Given the description of an element on the screen output the (x, y) to click on. 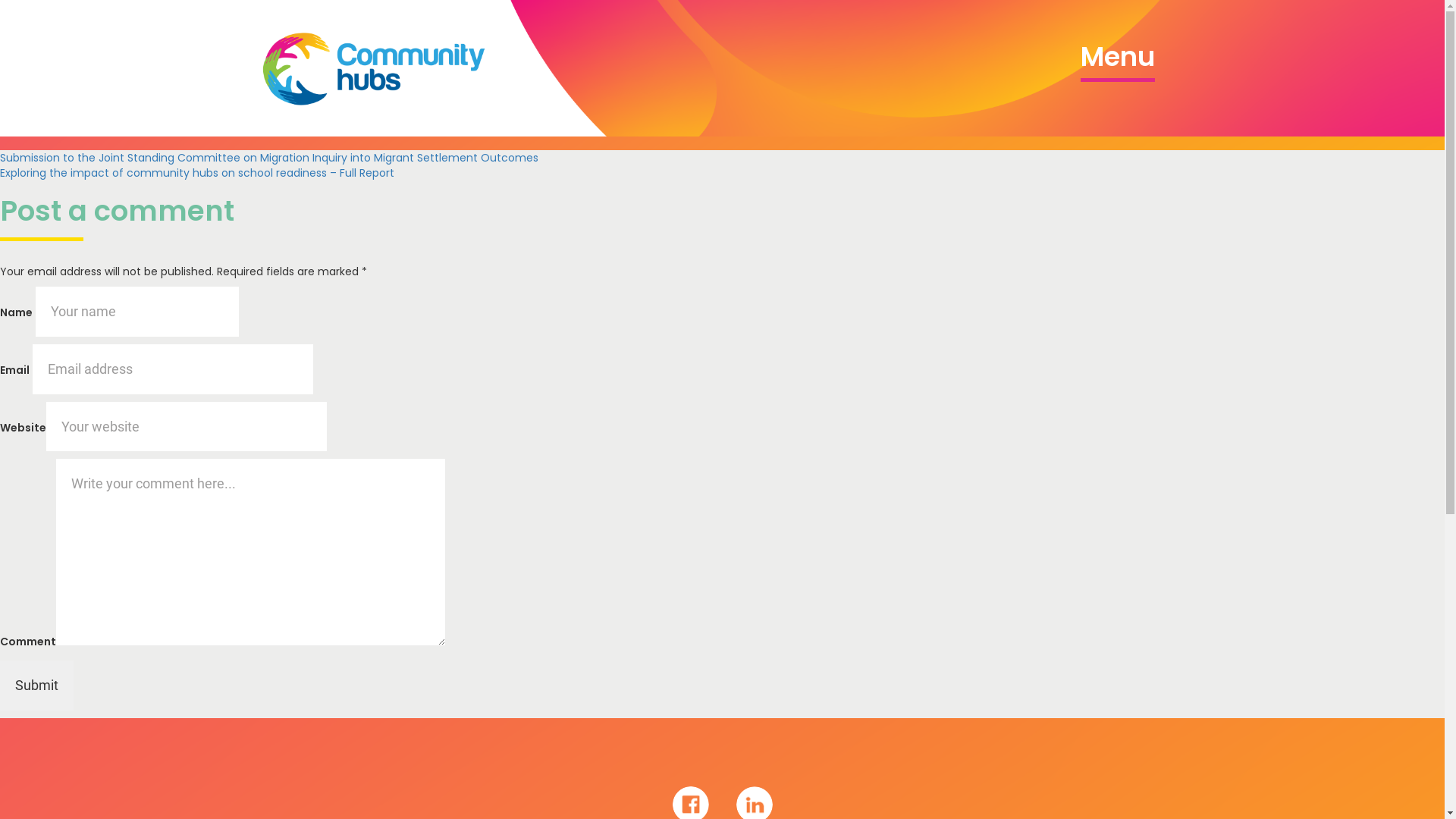
Submit Element type: text (36, 685)
Menu Element type: text (1116, 59)
